Given the description of an element on the screen output the (x, y) to click on. 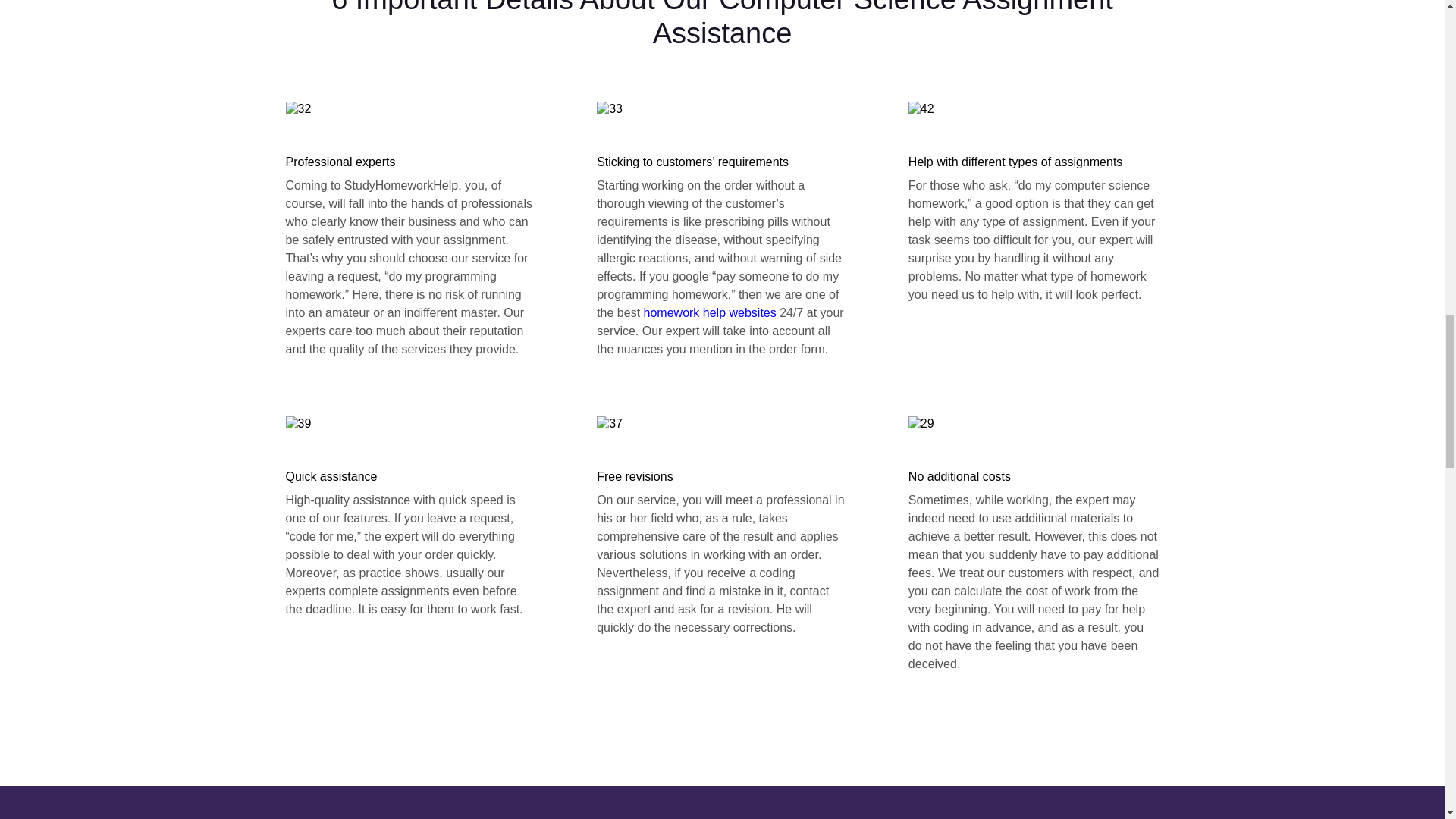
homework help websites (709, 312)
